Given the description of an element on the screen output the (x, y) to click on. 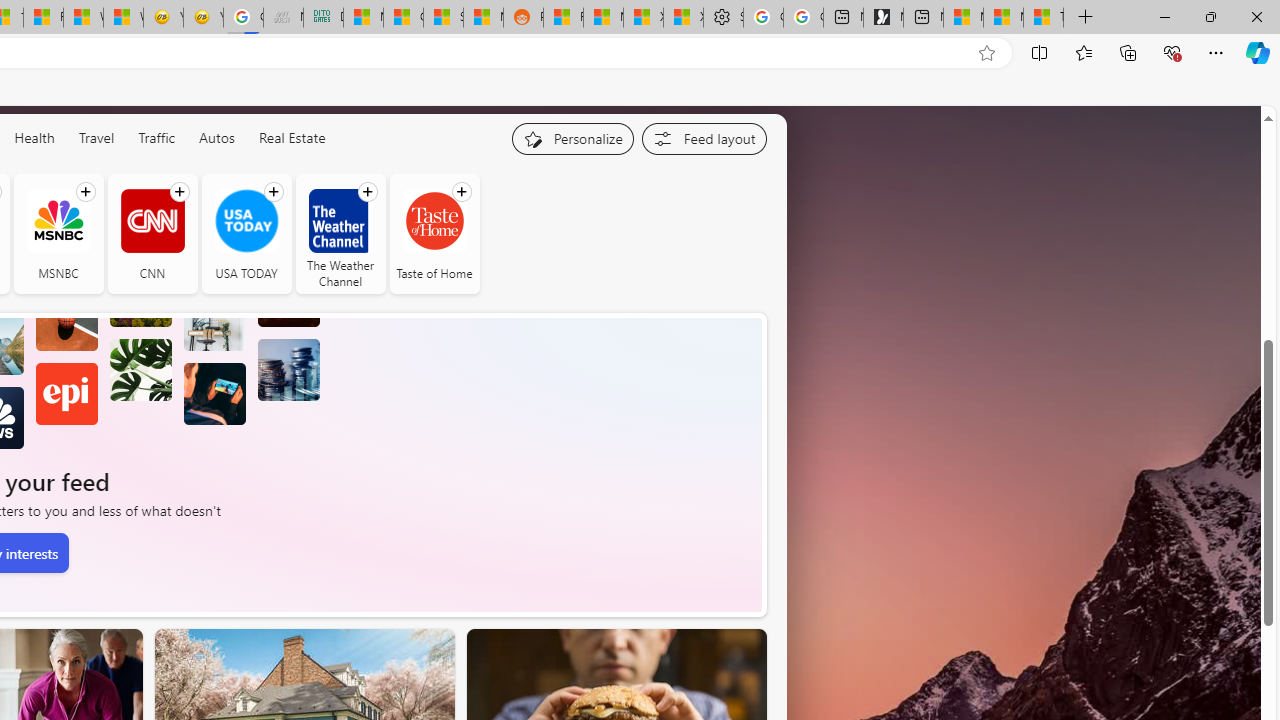
USA TODAY (245, 233)
R******* | Trusted Community Engagement and Contributions (563, 17)
Personalize your feed" (571, 138)
Autos (216, 138)
The Weather Channel (340, 233)
